Given the description of an element on the screen output the (x, y) to click on. 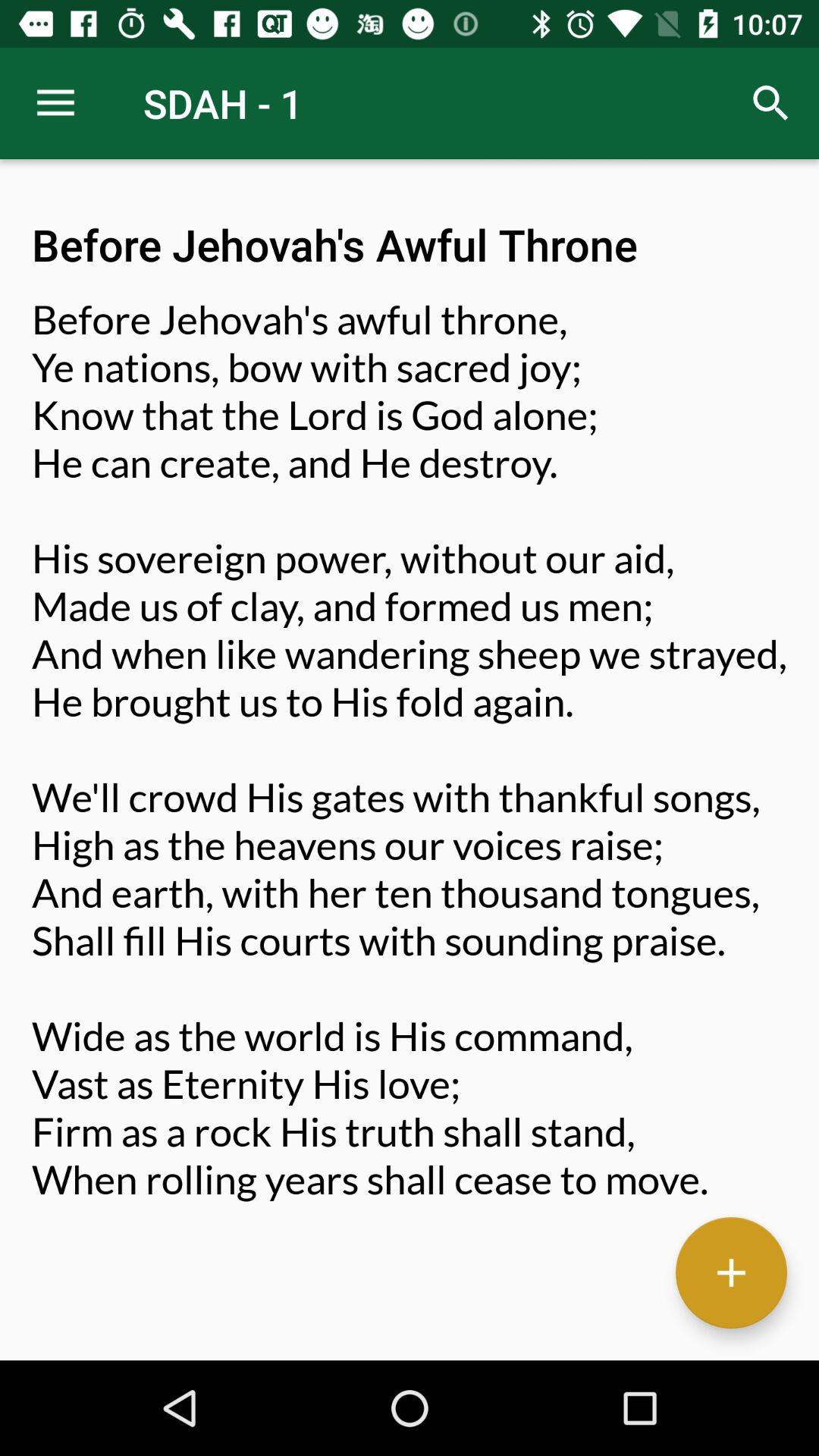
turn off the item next to the sdah - 1 icon (55, 103)
